Given the description of an element on the screen output the (x, y) to click on. 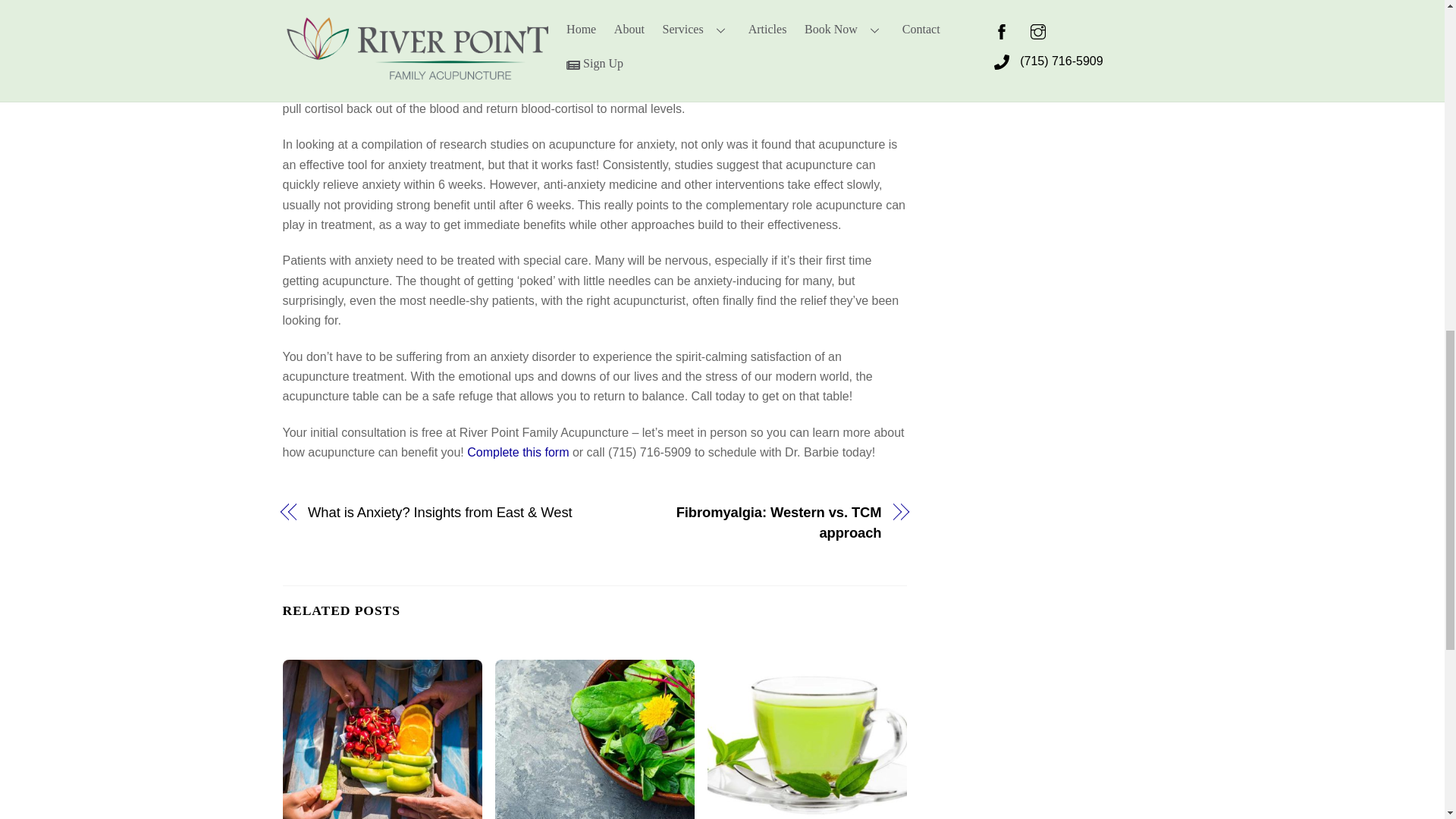
self-home-care---green-tea (807, 739)
spring-dandelion-salad (595, 739)
summertime-foods (381, 739)
